Given the description of an element on the screen output the (x, y) to click on. 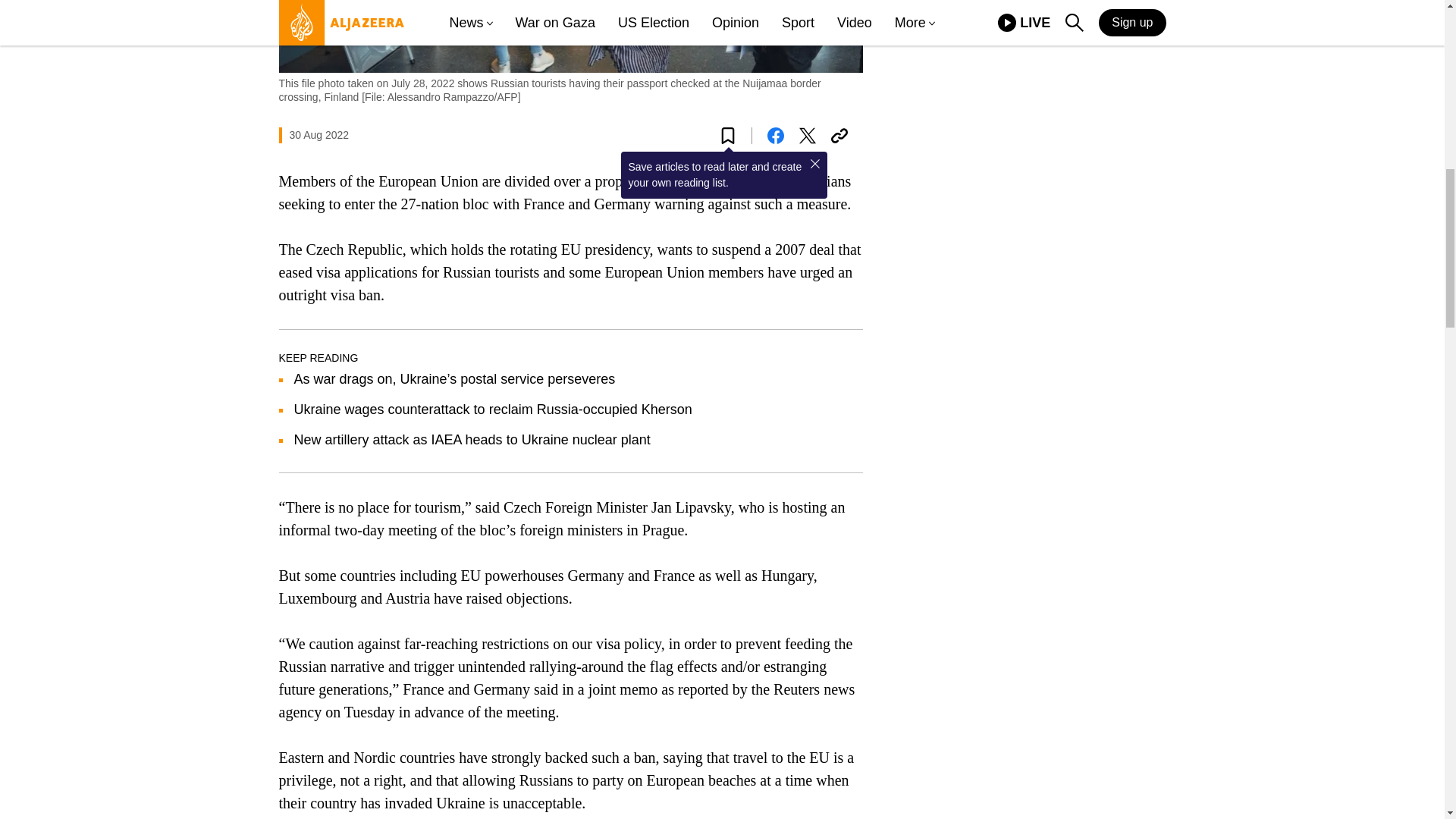
twitter (807, 135)
copylink (839, 135)
facebook (775, 135)
facebook (775, 135)
Close Tooltip (814, 163)
copylink (839, 135)
twitter (807, 135)
